Given the description of an element on the screen output the (x, y) to click on. 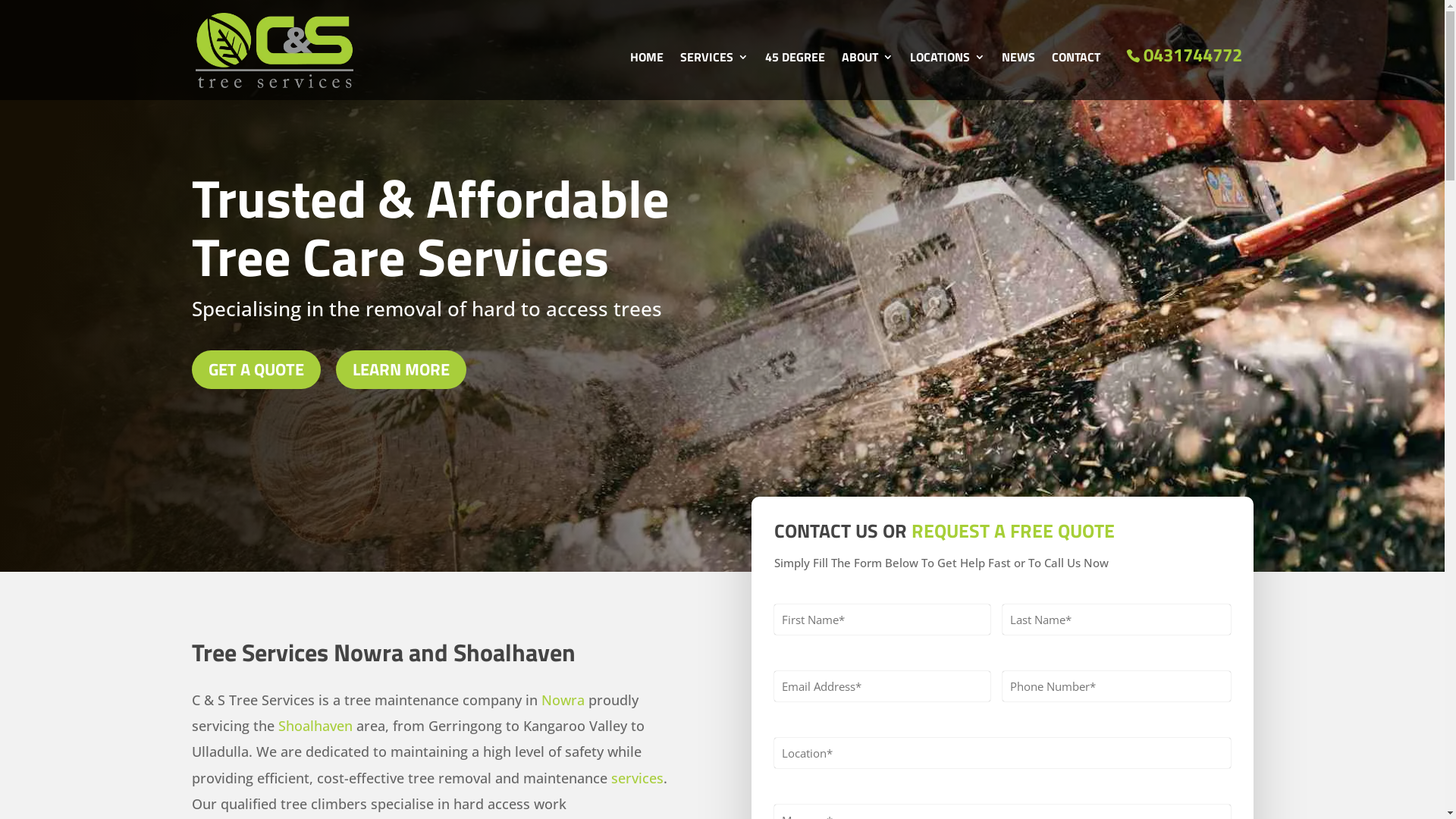
LOCATIONS Element type: text (947, 75)
SERVICES Element type: text (713, 75)
NEWS Element type: text (1017, 75)
Shoalhaven Element type: text (314, 725)
GET A QUOTE Element type: text (255, 369)
Nowra Element type: text (562, 699)
0431744772 Element type: text (1184, 54)
services Element type: text (637, 777)
CONTACT Element type: text (1075, 75)
HOME Element type: text (645, 75)
ABOUT Element type: text (867, 75)
LEARN MORE Element type: text (400, 369)
45 DEGREE Element type: text (794, 75)
